Given the description of an element on the screen output the (x, y) to click on. 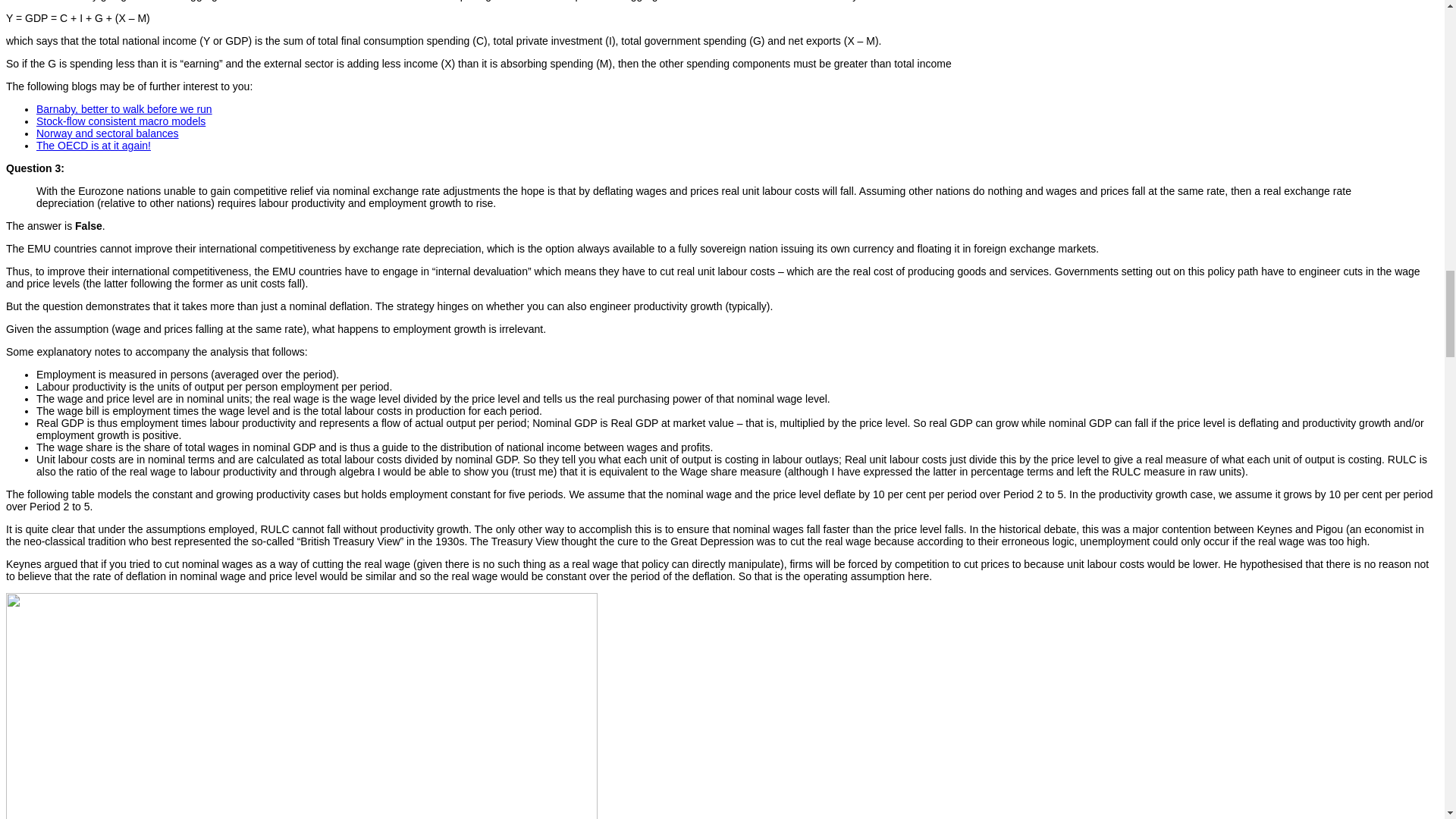
Stock-flow consistent macro models (120, 121)
Barnaby, better to walk before we run (124, 109)
Norway and sectoral balances (107, 133)
The OECD is at it again! (93, 145)
